Given the description of an element on the screen output the (x, y) to click on. 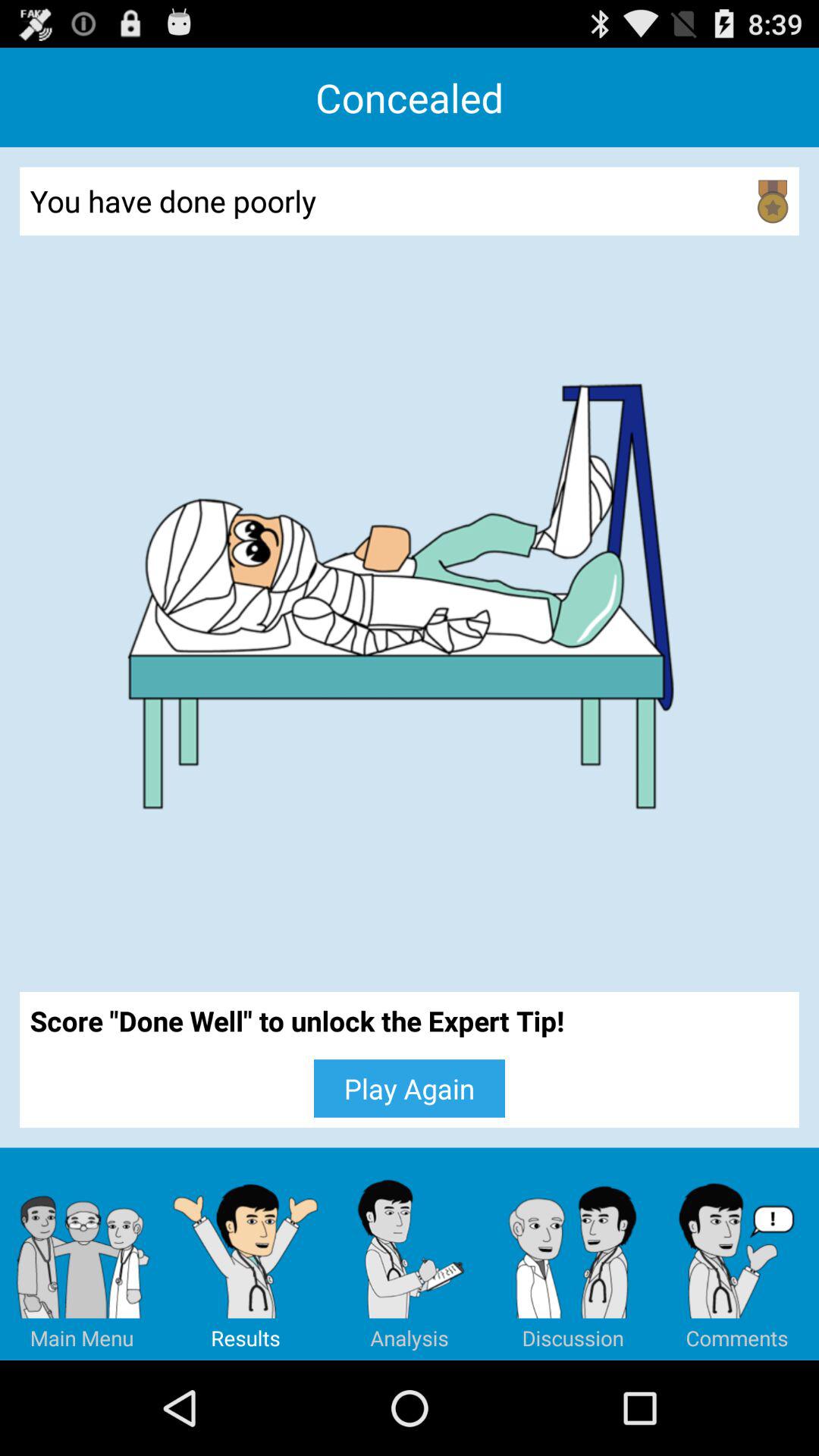
turn off the play again icon (409, 1088)
